Given the description of an element on the screen output the (x, y) to click on. 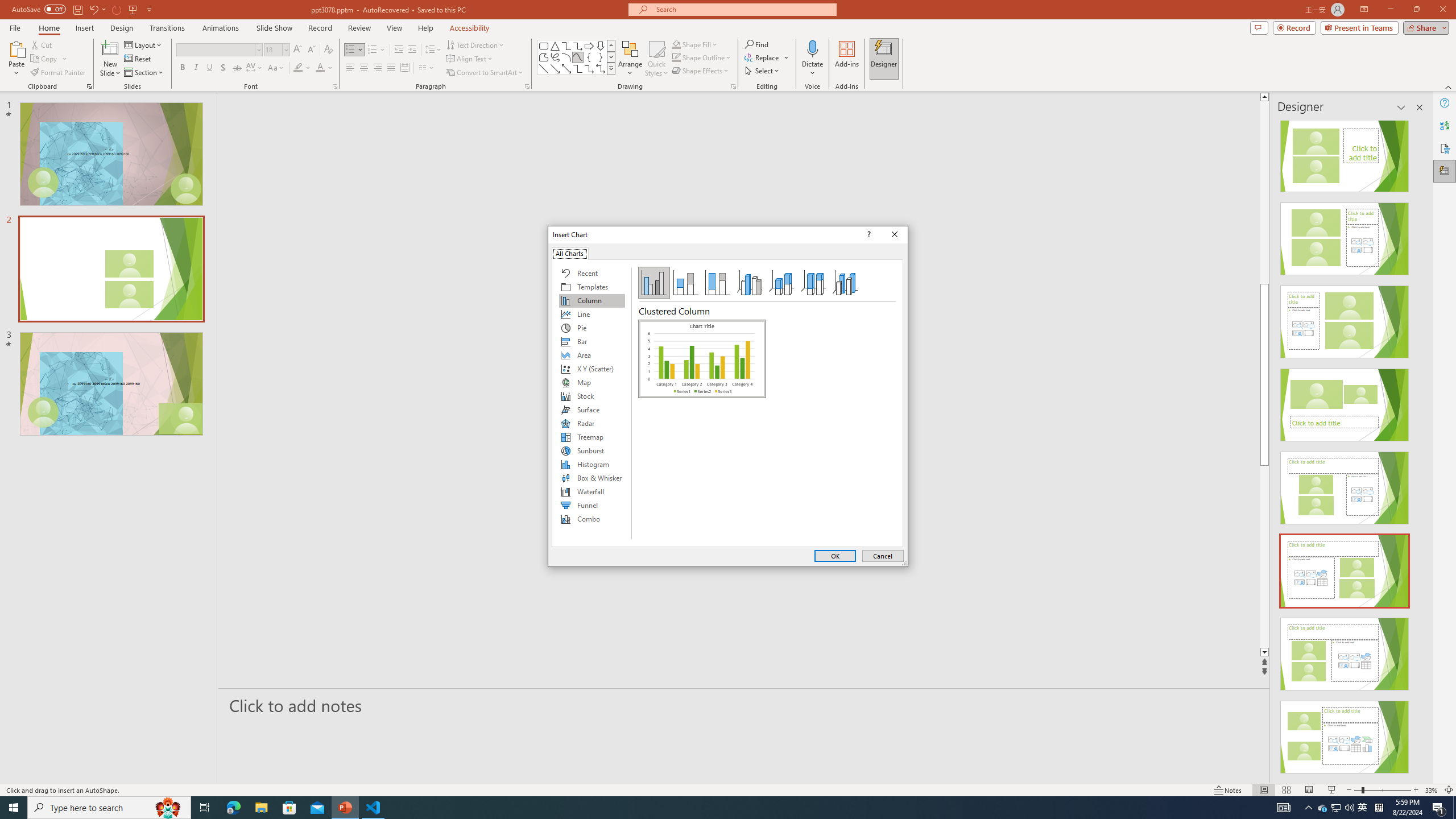
Templates (591, 287)
Line Arrow: Double (566, 68)
Box & Whisker (591, 477)
